Given the description of an element on the screen output the (x, y) to click on. 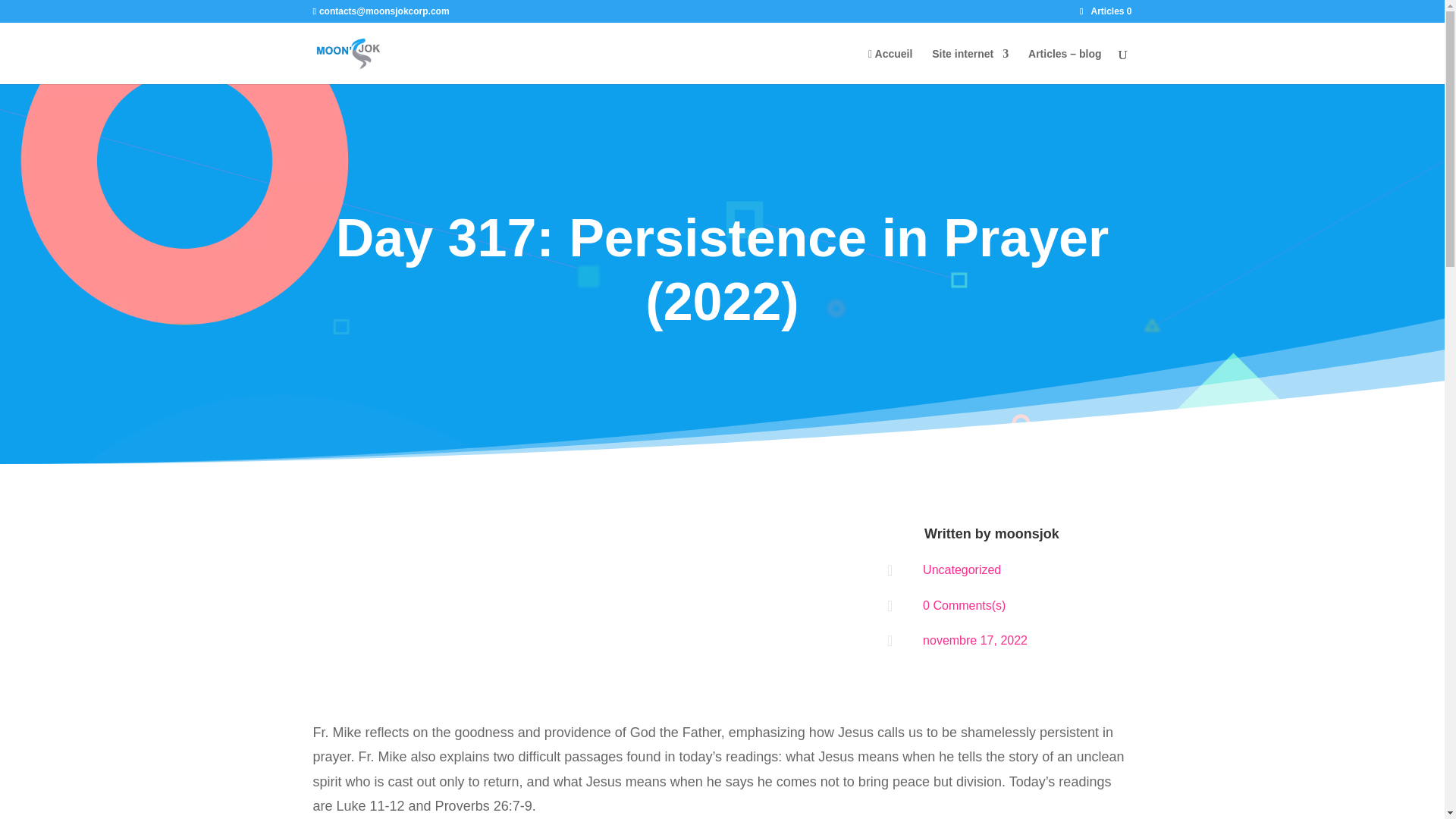
Articles 0 (1105, 10)
Site internet (970, 66)
Uncategorized (962, 569)
moonsjok (1026, 533)
